Given the description of an element on the screen output the (x, y) to click on. 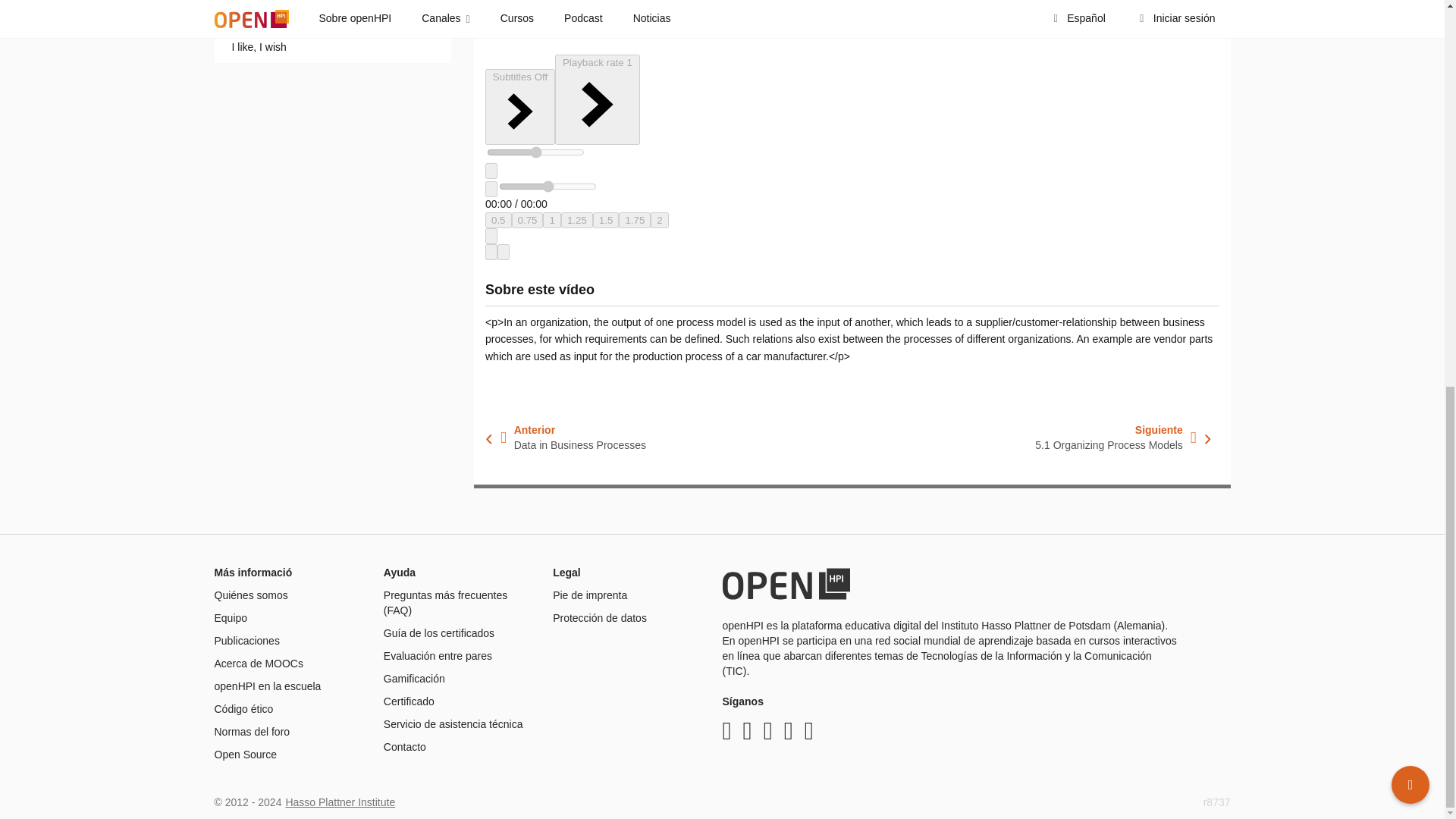
Certificado (408, 701)
Contacto (405, 746)
Normas del foro (251, 731)
Equipo (230, 617)
Pie de imprenta (590, 594)
Publicaciones (246, 640)
openHPI en la escuela (267, 686)
X (726, 731)
Open Source (245, 754)
